Given the description of an element on the screen output the (x, y) to click on. 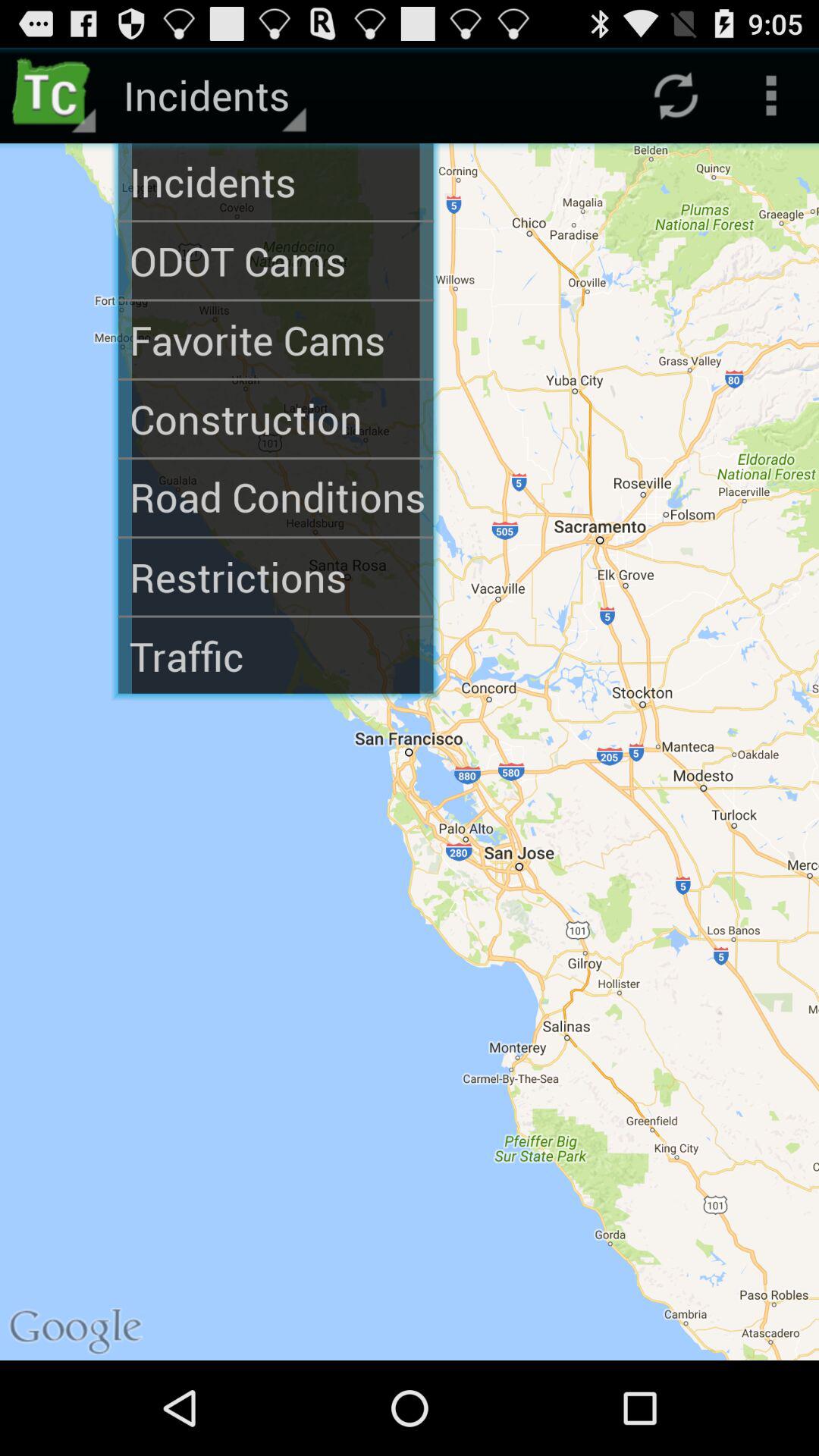
turn on the road conditions icon (275, 497)
